Given the description of an element on the screen output the (x, y) to click on. 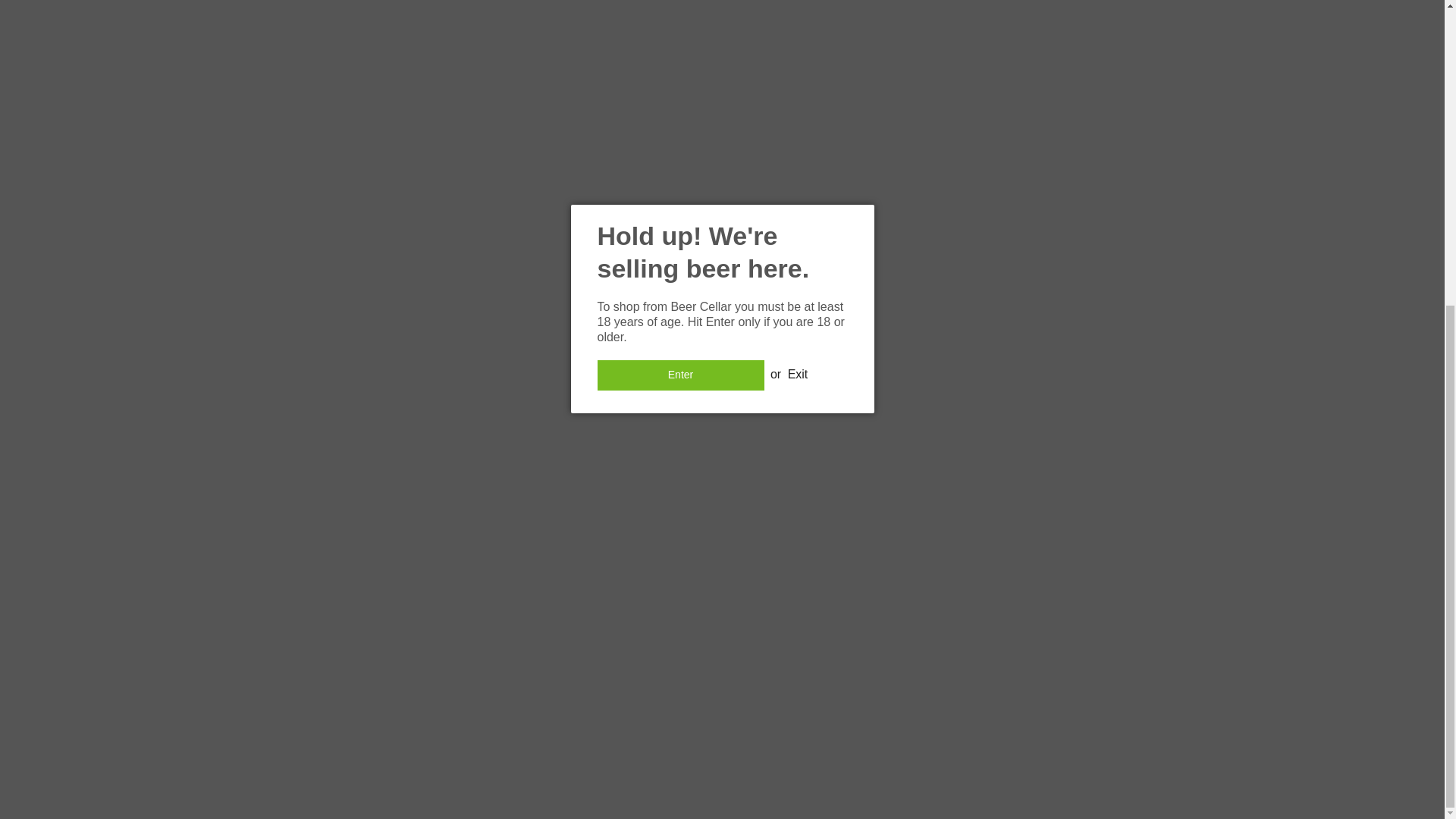
Apple Pay (670, 760)
Sold Out (941, 7)
Mastercard (740, 760)
Join (1029, 536)
Visa (846, 760)
Shop Pay (775, 760)
Google Pay (705, 760)
American Express (635, 760)
Union Pay (812, 760)
